Given the description of an element on the screen output the (x, y) to click on. 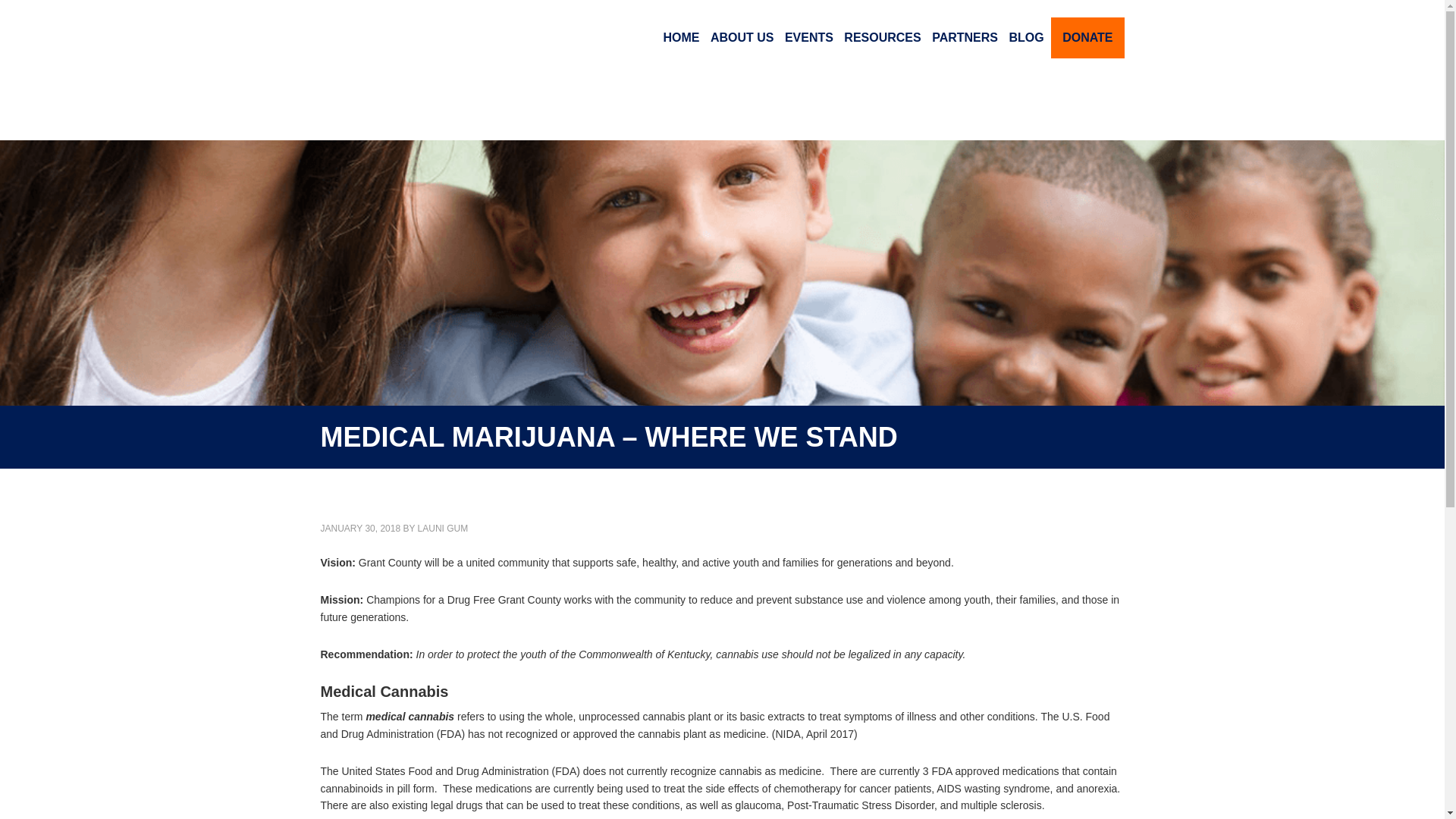
ABOUT US (741, 37)
LAUNI GUM (442, 528)
EVENTS (808, 37)
DONATE (1087, 37)
HOME (681, 37)
BLOG (1025, 37)
PARTNERS (964, 37)
RESOURCES (882, 37)
